Given the description of an element on the screen output the (x, y) to click on. 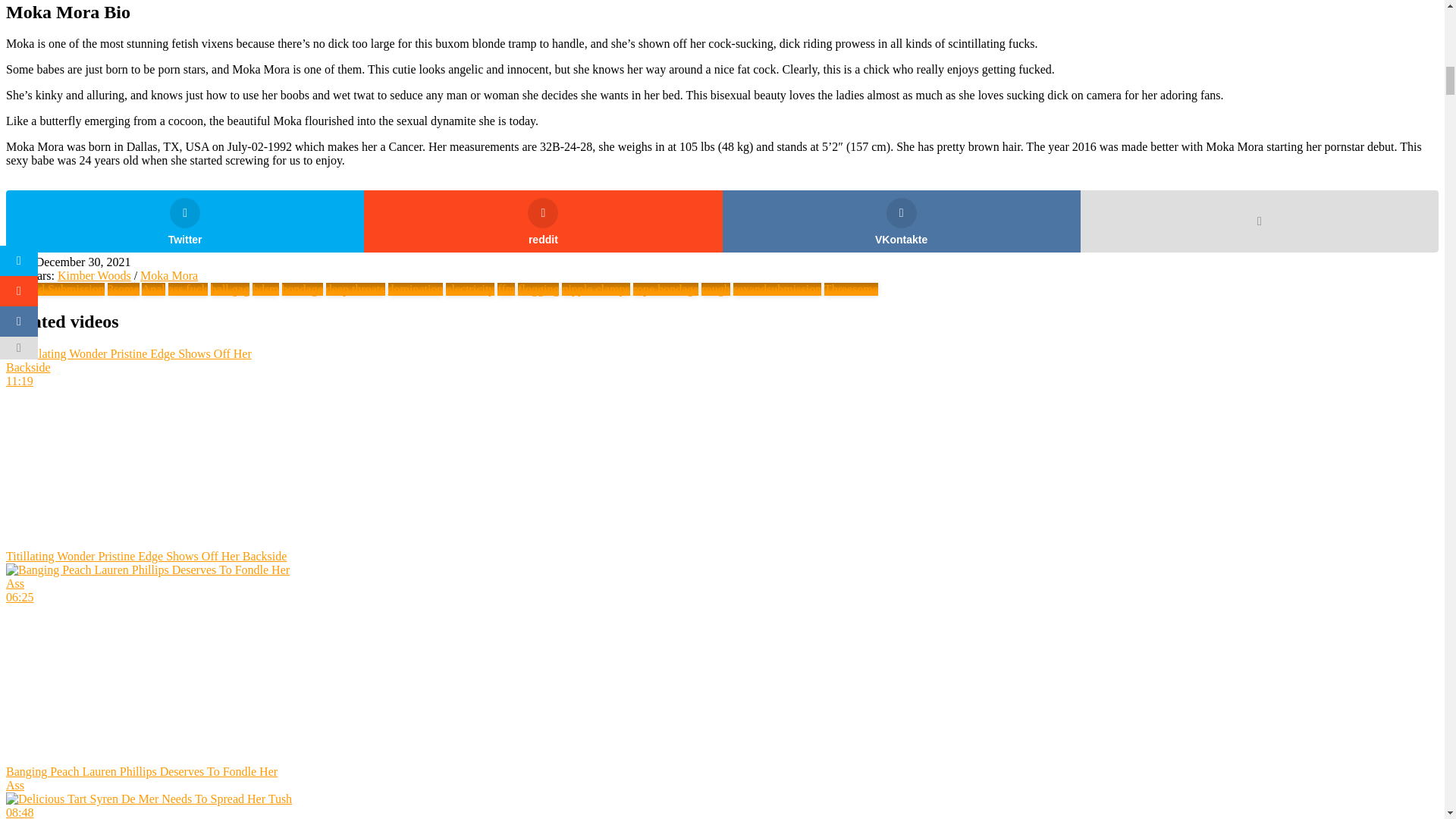
Anal (153, 288)
reddit (543, 221)
bdsm (265, 288)
Moka Mora (168, 275)
Twitter (184, 221)
3some (123, 288)
ball gag (229, 288)
Sex and Submission (54, 288)
ffm (506, 288)
Sex and Submission (54, 288)
